Given the description of an element on the screen output the (x, y) to click on. 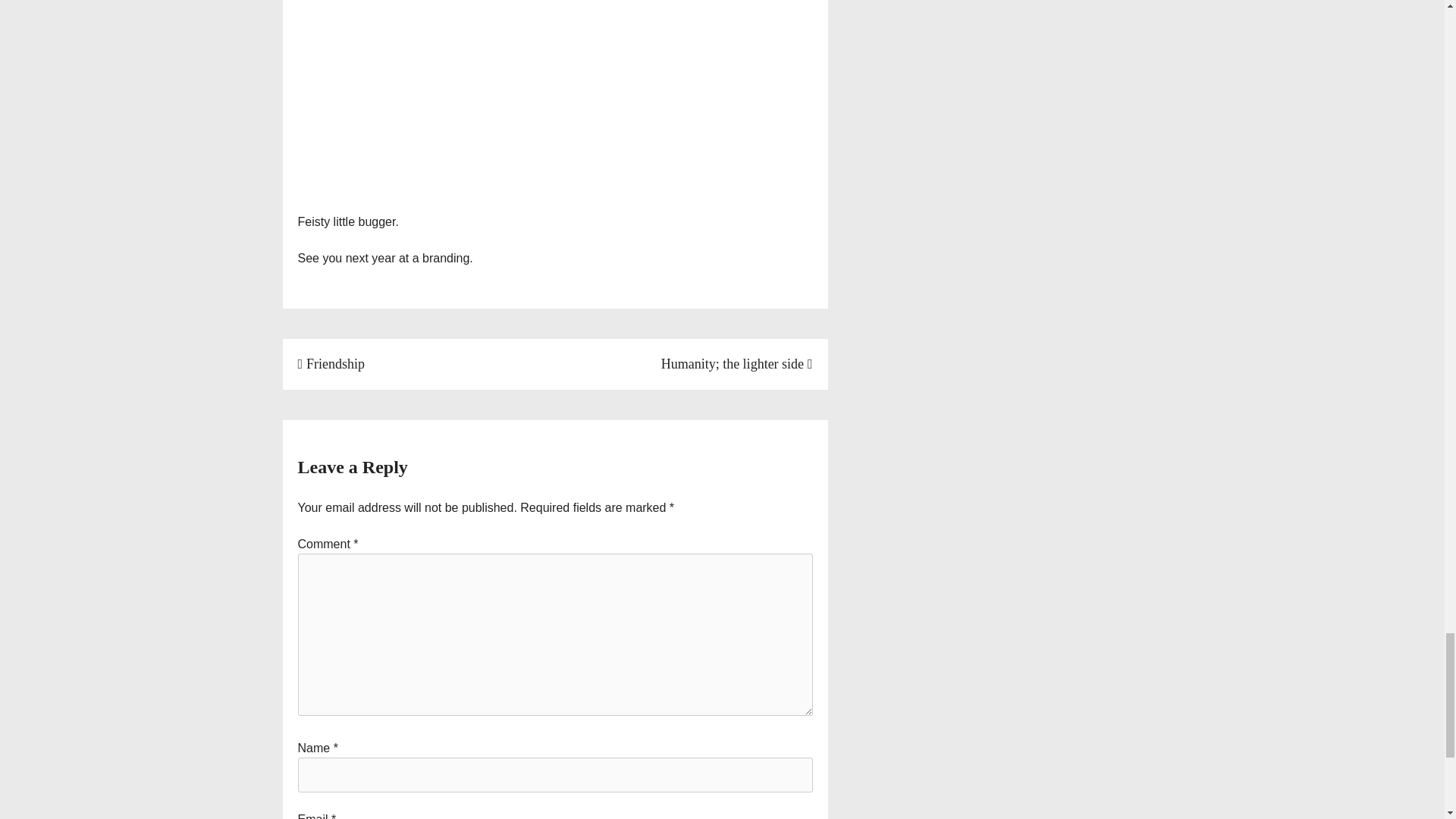
Humanity; the lighter side (736, 363)
Friendship (331, 363)
